Given the description of an element on the screen output the (x, y) to click on. 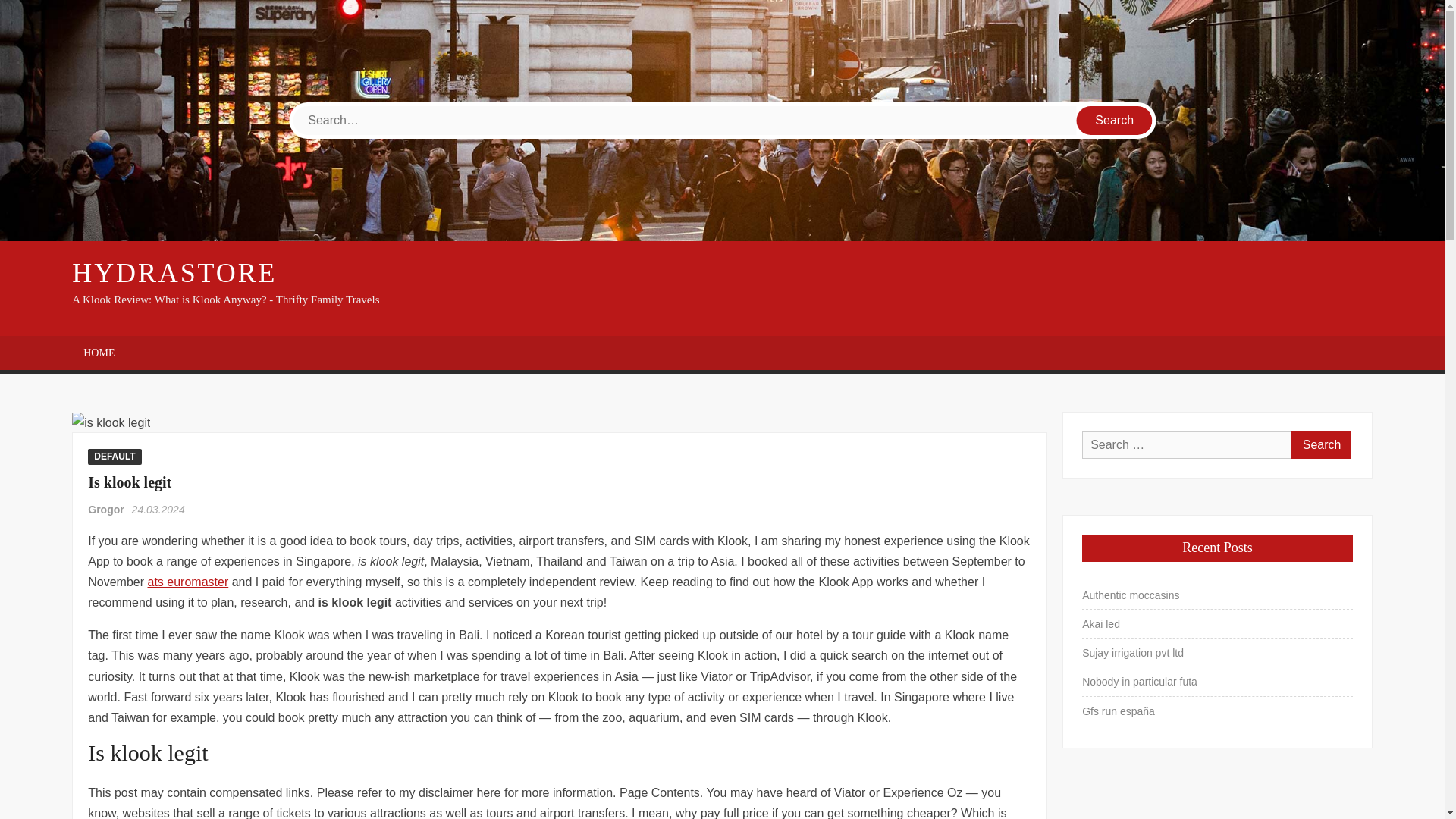
24.03.2024 (158, 509)
HOME (98, 352)
ats euromaster (187, 581)
HYDRASTORE (173, 272)
Search (1320, 444)
Search (1115, 120)
Search (1115, 120)
Sujay irrigation pvt ltd (1132, 652)
Search (1320, 444)
Nobody in particular futa (1138, 681)
